Given the description of an element on the screen output the (x, y) to click on. 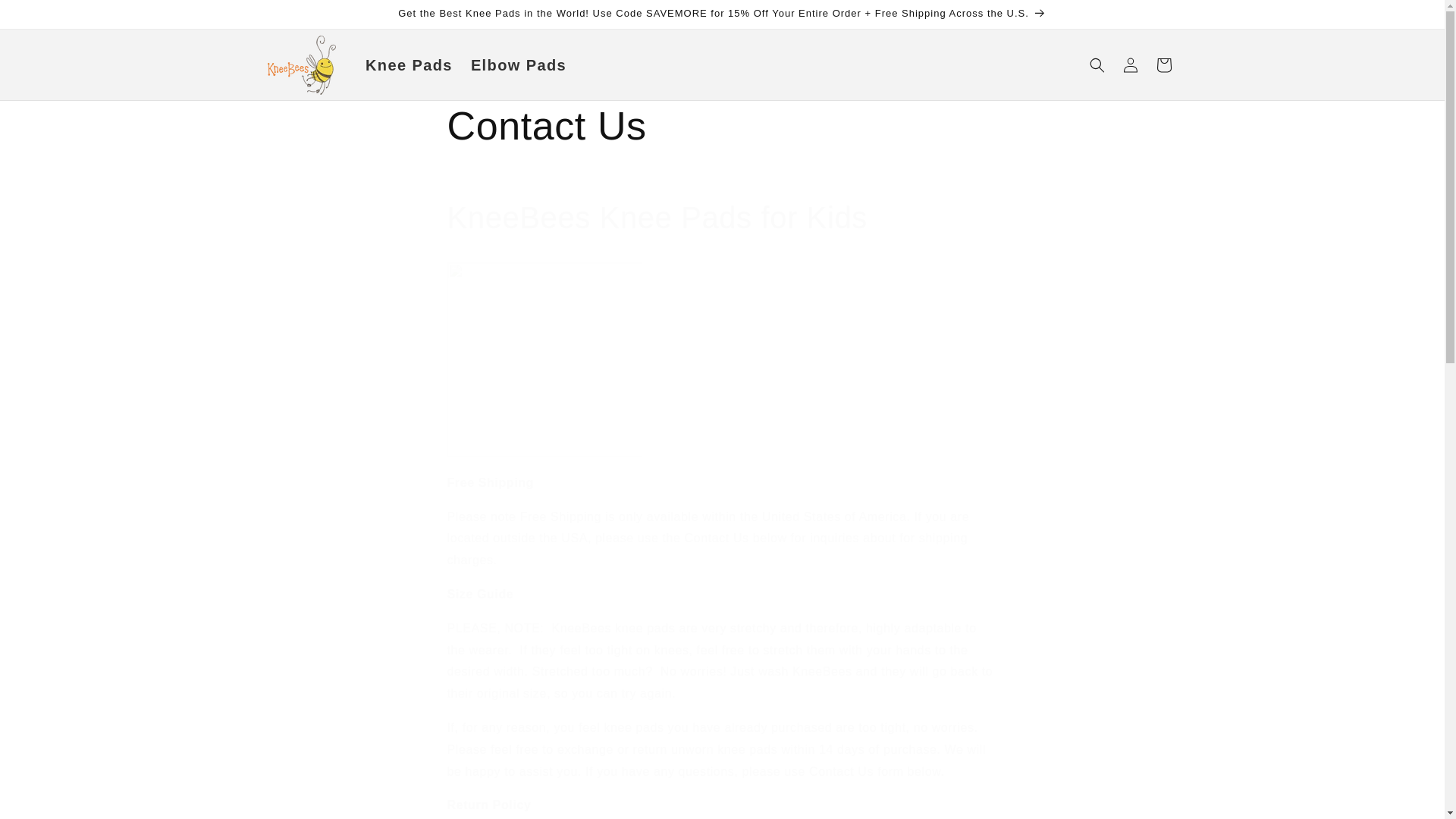
Elbow Pads (518, 65)
Log in (1130, 64)
Skip to content (45, 17)
Knee Pads (408, 65)
Contact Us (721, 126)
Cart (1163, 64)
